Given the description of an element on the screen output the (x, y) to click on. 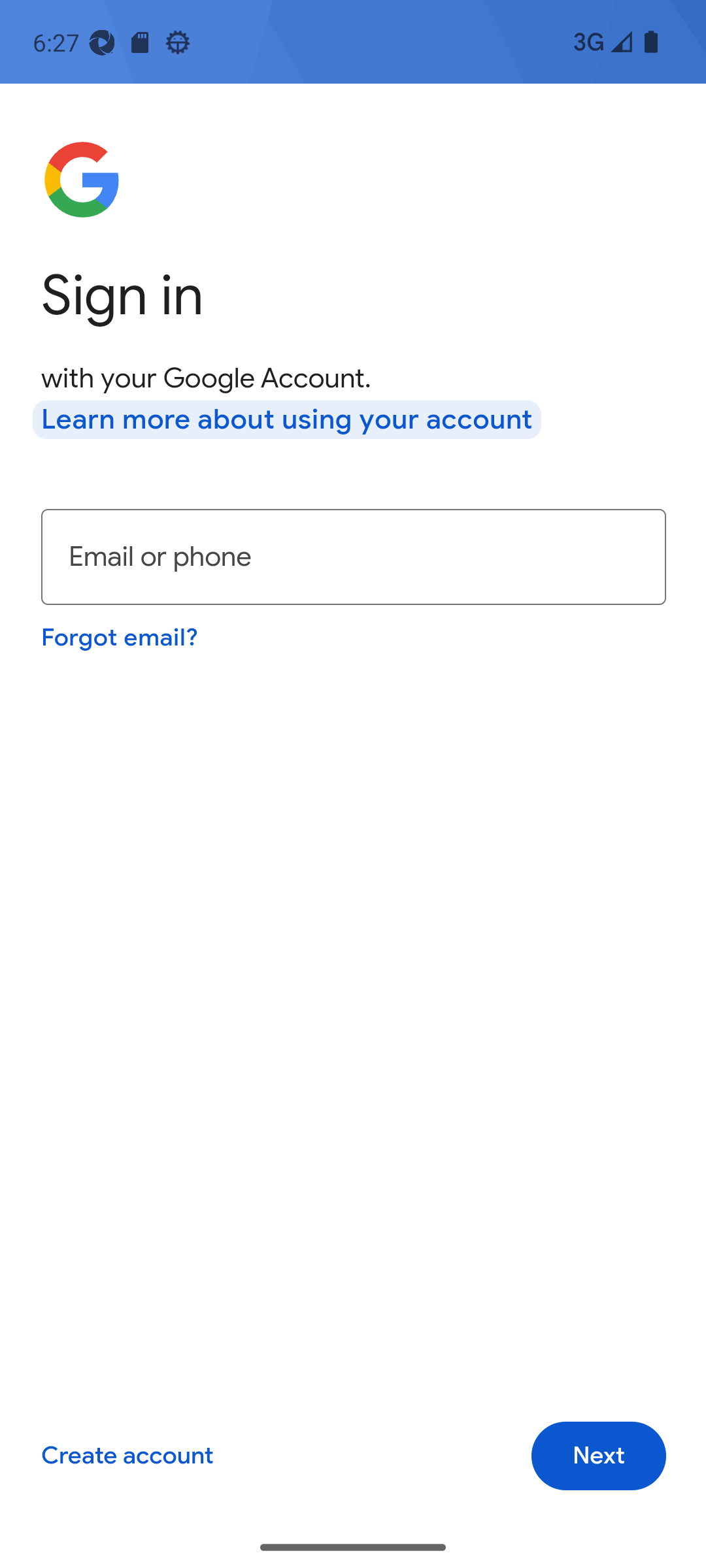
Learn more about using your account (286, 419)
Forgot email? (119, 635)
Create account (127, 1455)
Next (598, 1455)
